Given the description of an element on the screen output the (x, y) to click on. 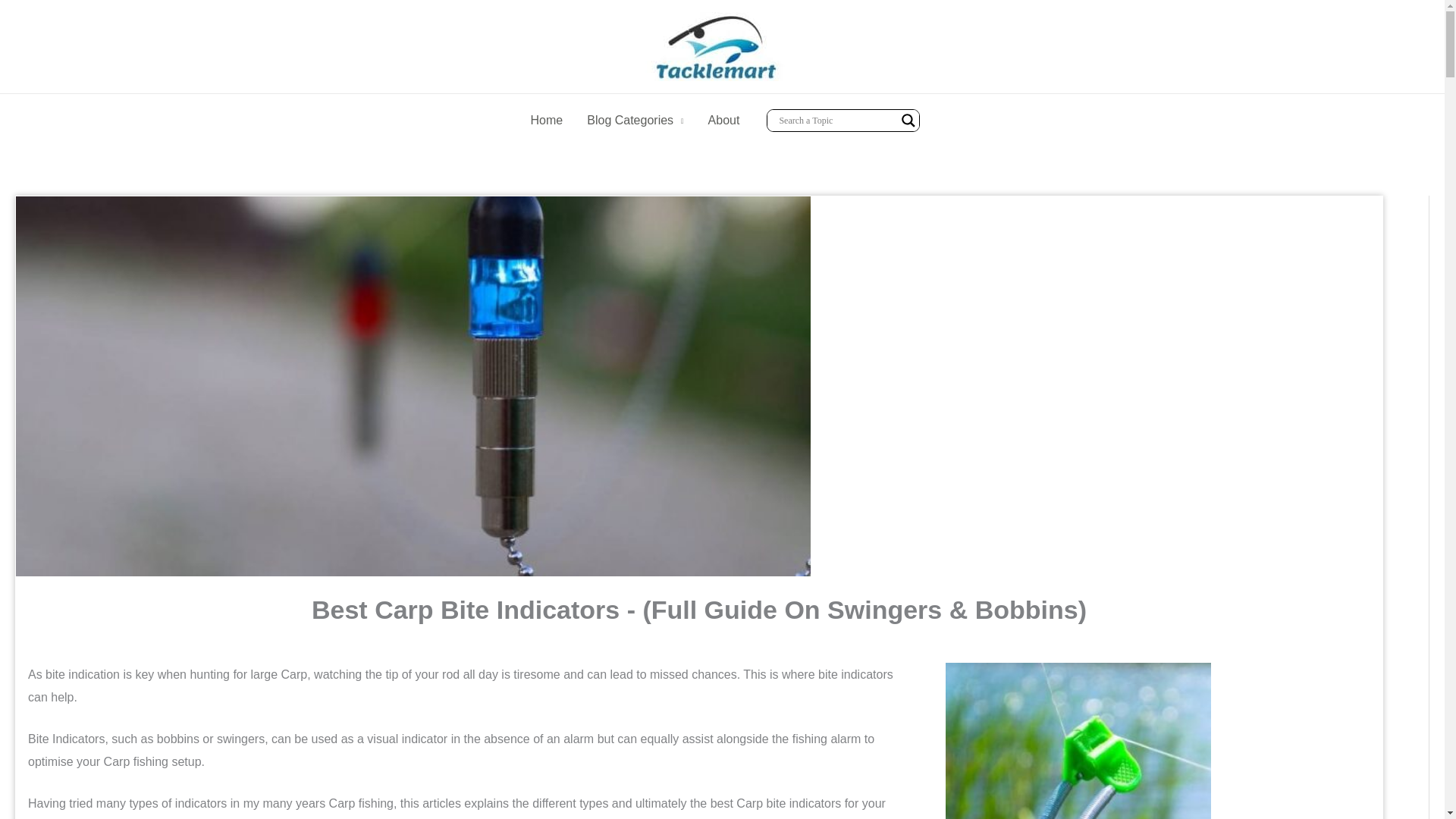
About (723, 120)
best bite indicator for carp fishing (1077, 740)
Blog Categories (635, 120)
Home (546, 120)
